Given the description of an element on the screen output the (x, y) to click on. 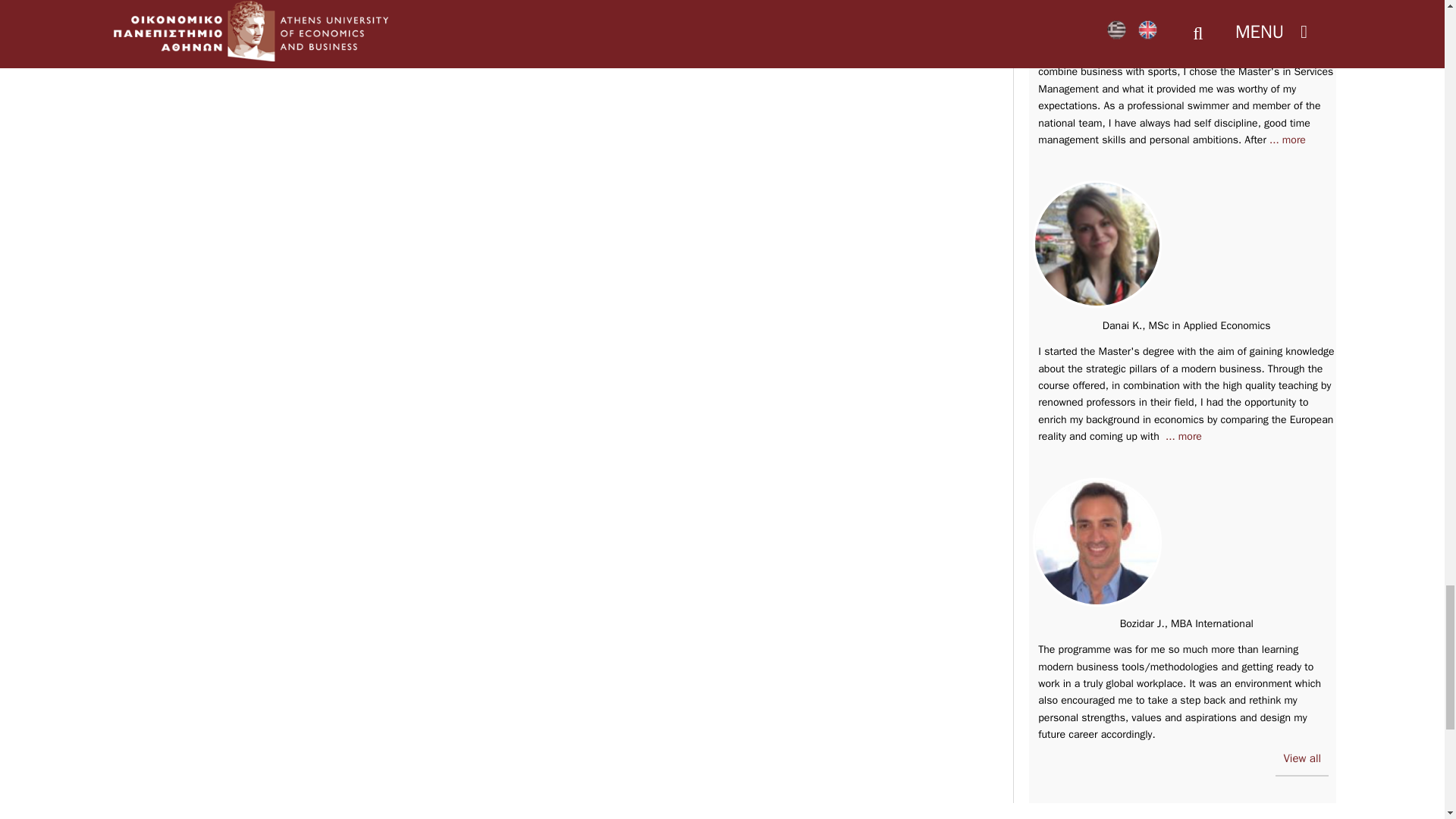
View all (1301, 762)
... more (1184, 436)
... more (1287, 139)
